Given the description of an element on the screen output the (x, y) to click on. 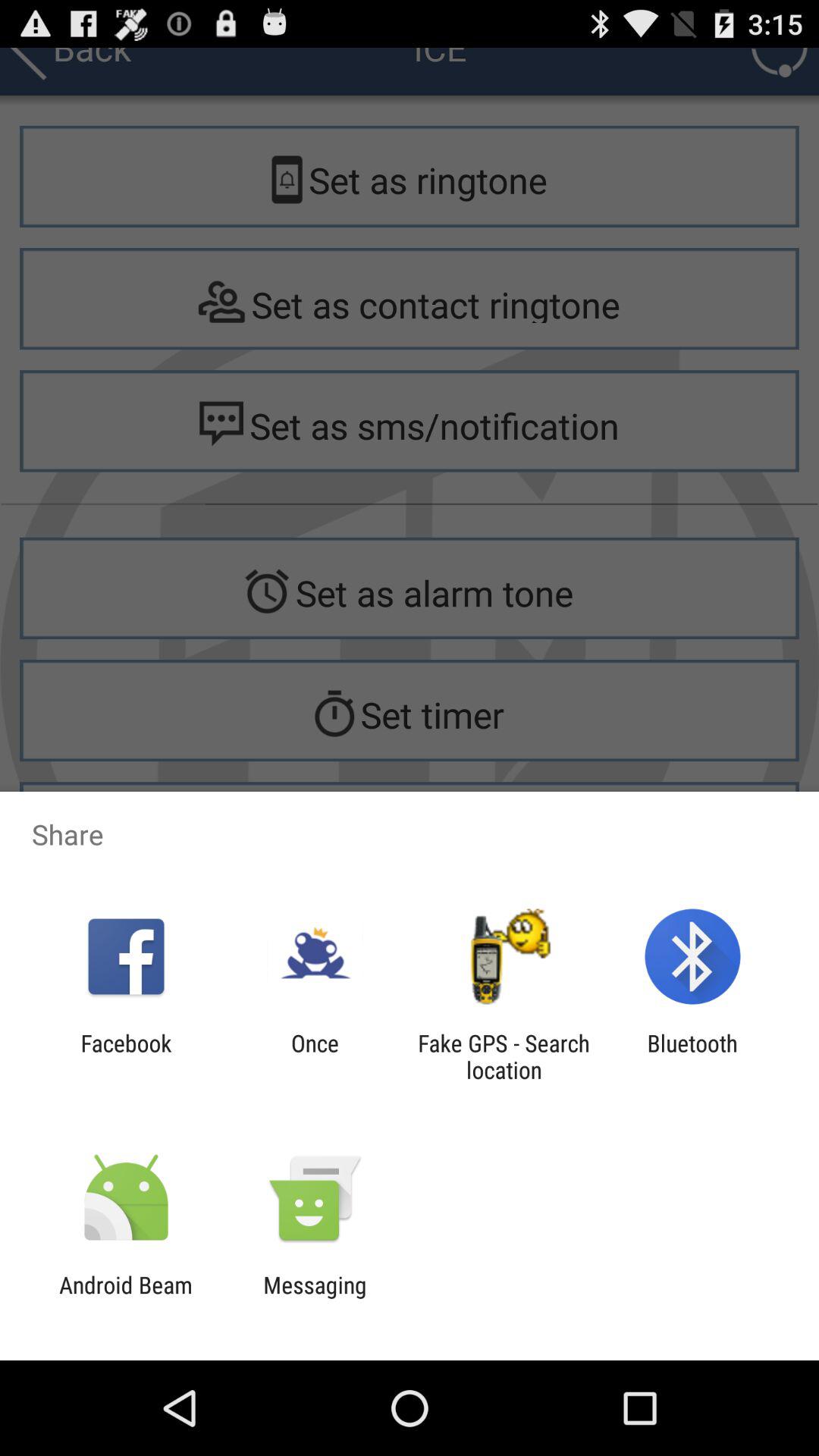
jump to the messaging item (314, 1298)
